Given the description of an element on the screen output the (x, y) to click on. 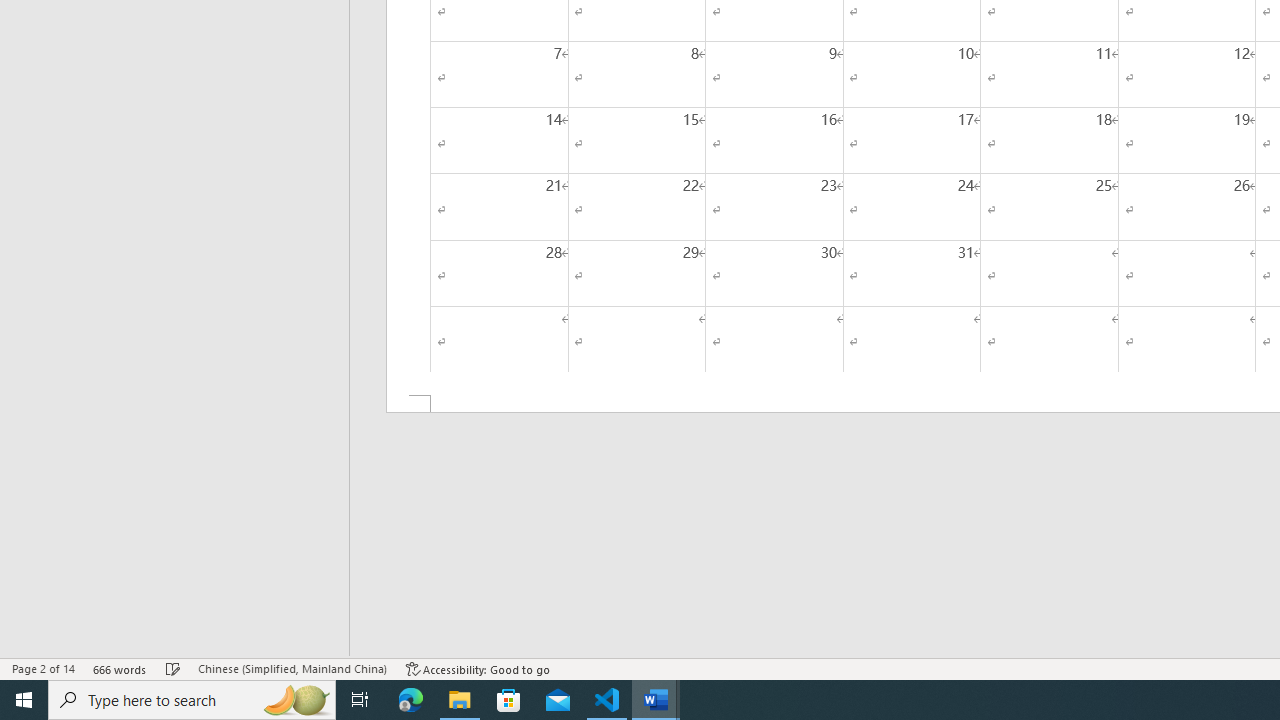
Accessibility Checker Accessibility: Good to go (478, 668)
Page Number Page 2 of 14 (43, 668)
Language Chinese (Simplified, Mainland China) (292, 668)
Spelling and Grammar Check No Errors (173, 668)
Word Count 666 words (119, 668)
